Given the description of an element on the screen output the (x, y) to click on. 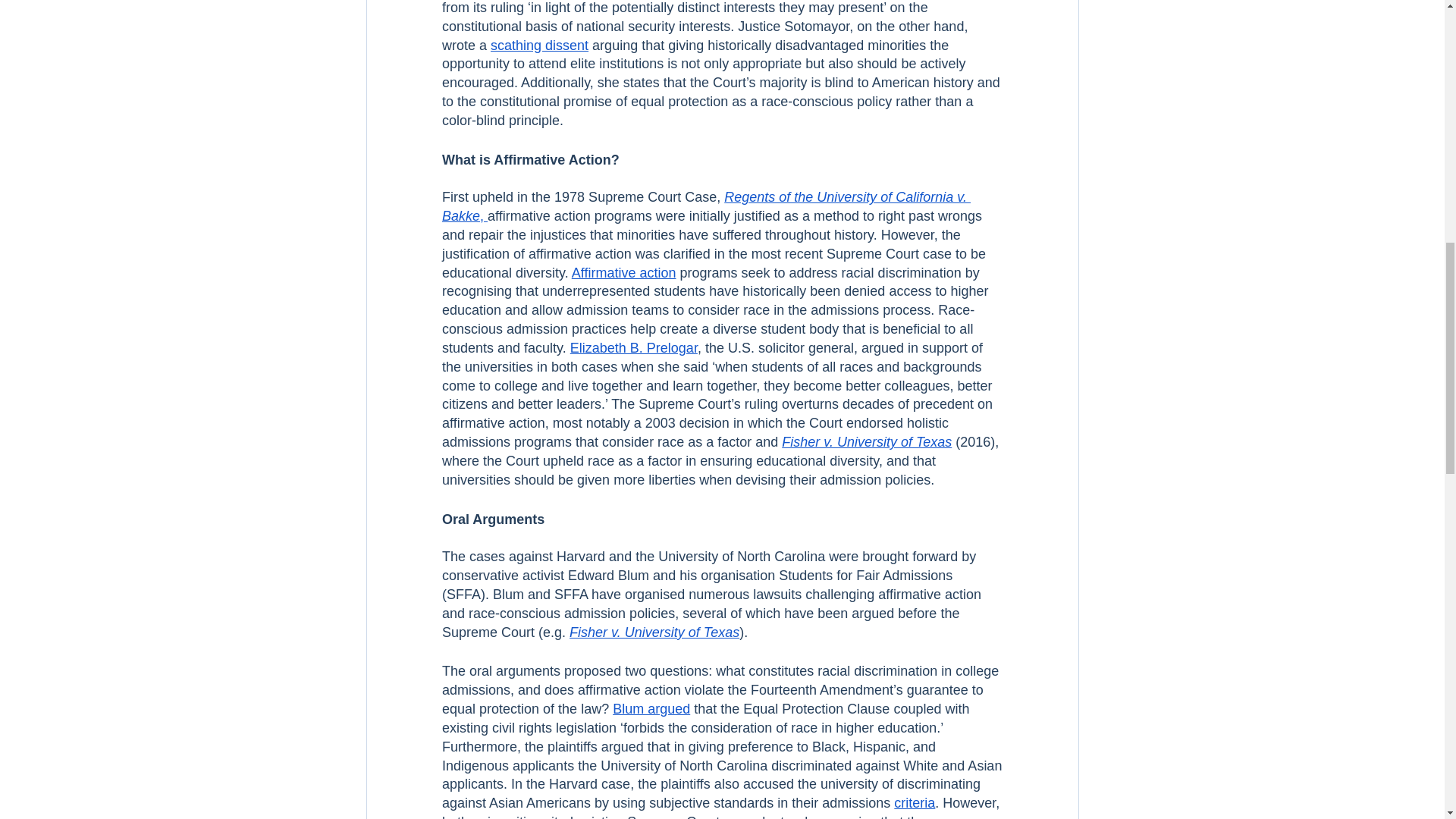
Affirmative action (622, 272)
Fisher v. University of Texas (866, 441)
Elizabeth B. Prelogar (633, 347)
Regents of the University of California v. Bakke (705, 206)
scathing dissent (539, 45)
Fisher v. University of Texas (654, 631)
Blum argued (651, 708)
